Given the description of an element on the screen output the (x, y) to click on. 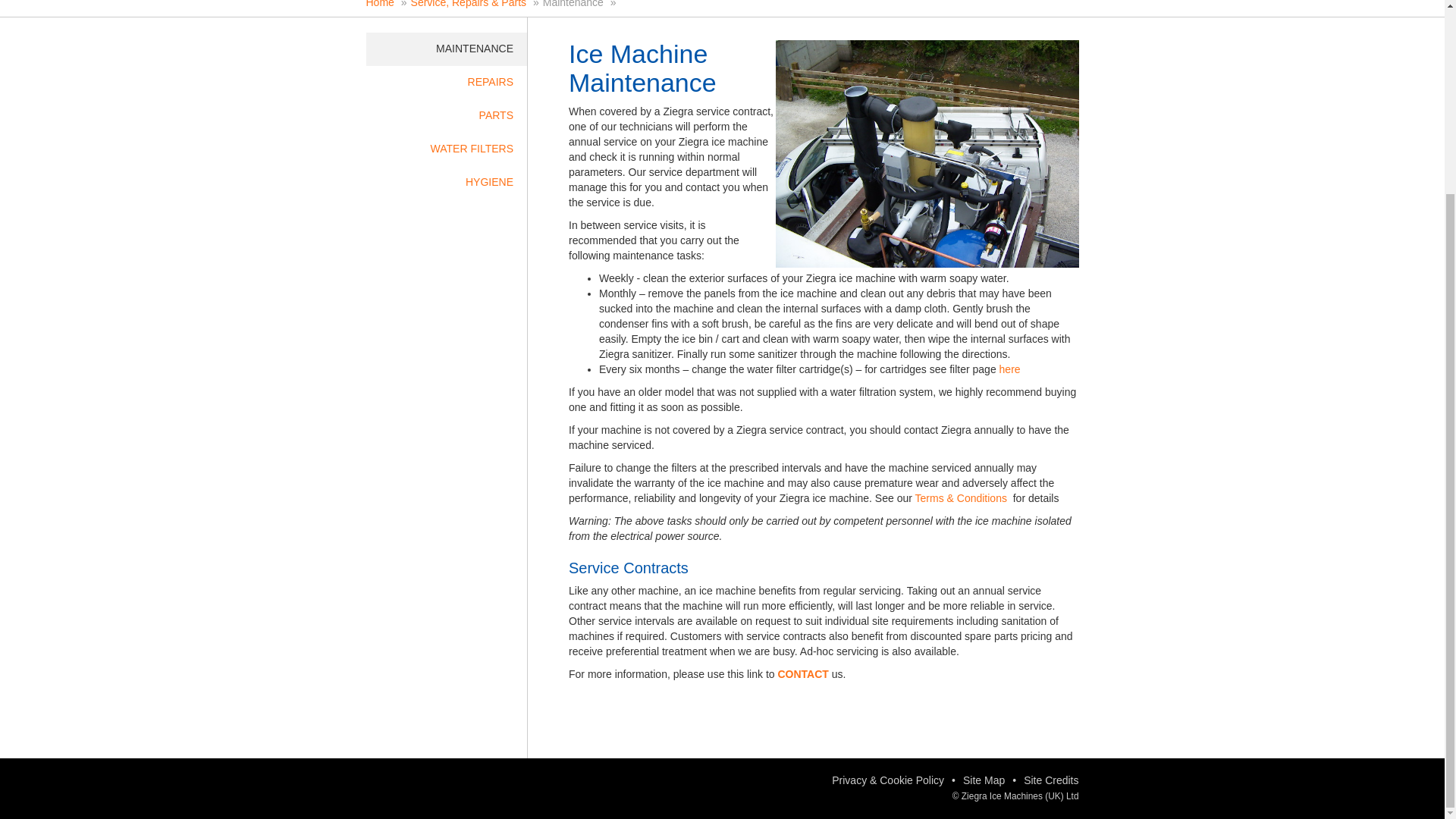
Facebook (414, 787)
Youtube (475, 787)
LinkedIn (445, 787)
Twitter (384, 787)
